Given the description of an element on the screen output the (x, y) to click on. 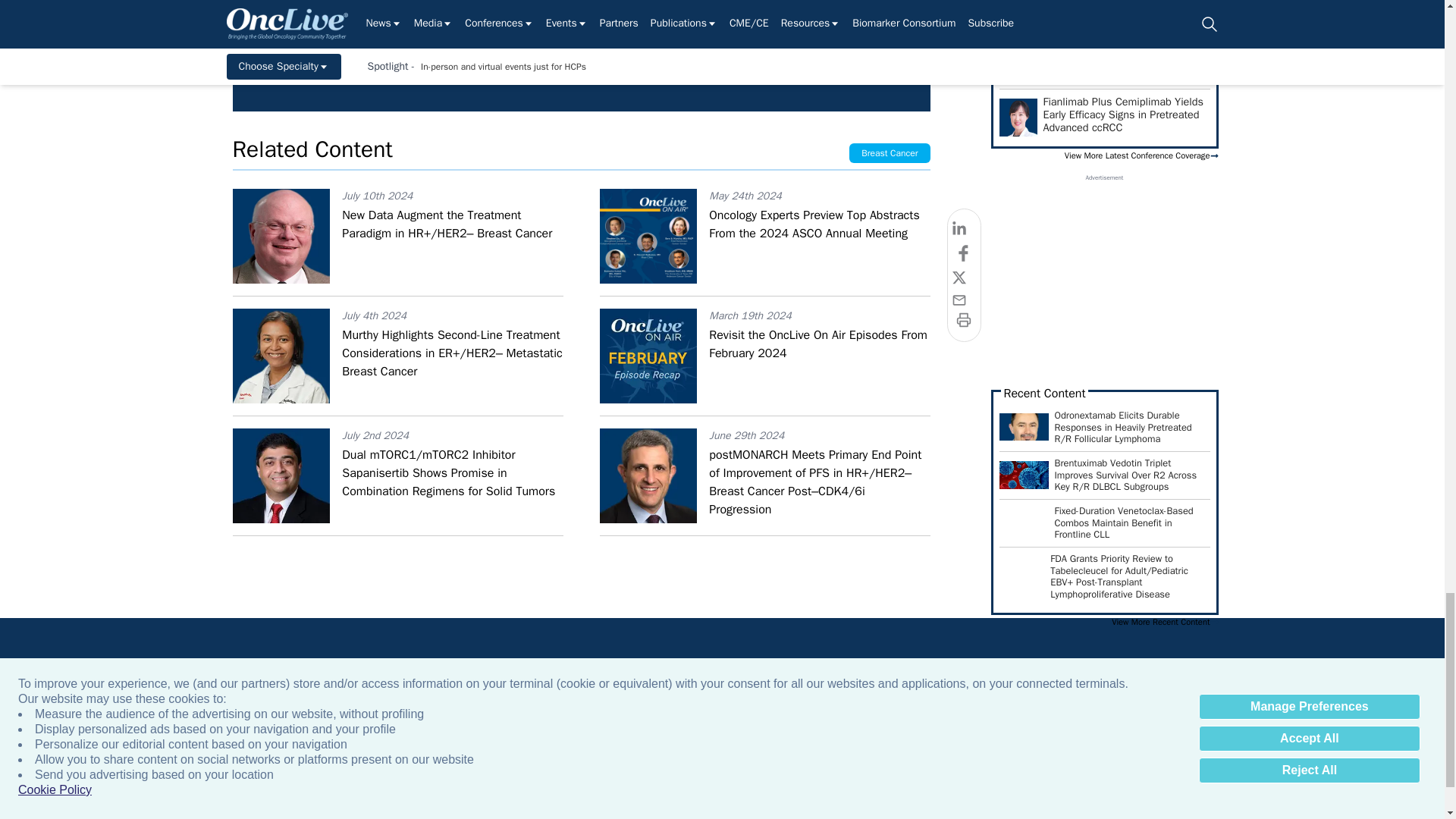
A panel of 5 experts on breast cancer (999, 8)
Cynthia Ma, MD, PhD (1163, 8)
A panel of 5 experts on breast cancer (835, 8)
Adrienne G. Waks, MD, Dana-Farber Cancer Institute (343, 8)
Arya Mariam Roy, MBBS (1326, 8)
